Given the description of an element on the screen output the (x, y) to click on. 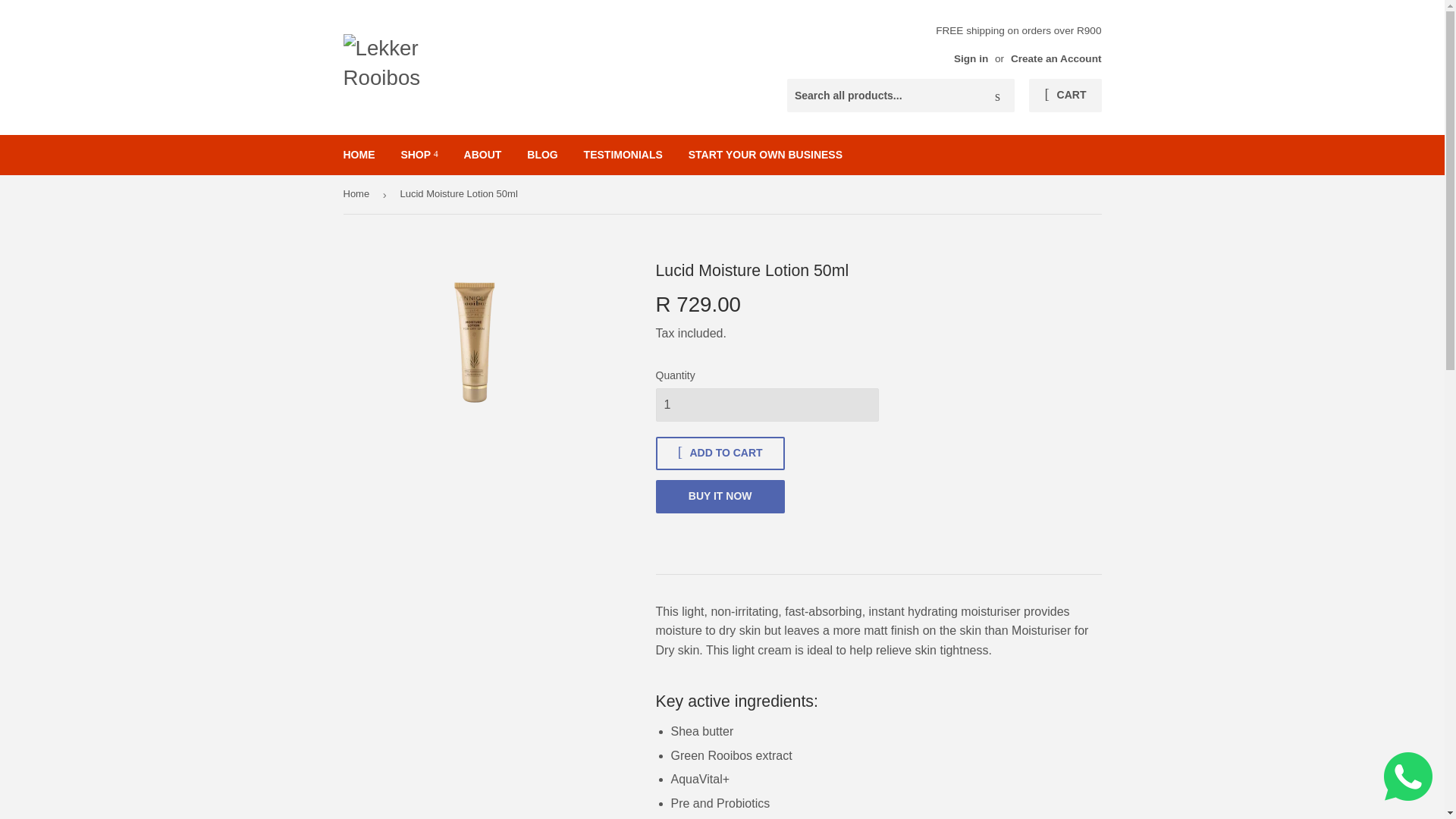
ABOUT (482, 154)
Search (996, 96)
1 (766, 404)
CART (1064, 95)
START YOUR OWN BUSINESS (765, 154)
SHOP (418, 154)
Sign in (970, 58)
BUY IT NOW (719, 496)
ADD TO CART (719, 453)
HOME (359, 154)
Create an Account (1056, 58)
TESTIMONIALS (623, 154)
BLOG (542, 154)
